Given the description of an element on the screen output the (x, y) to click on. 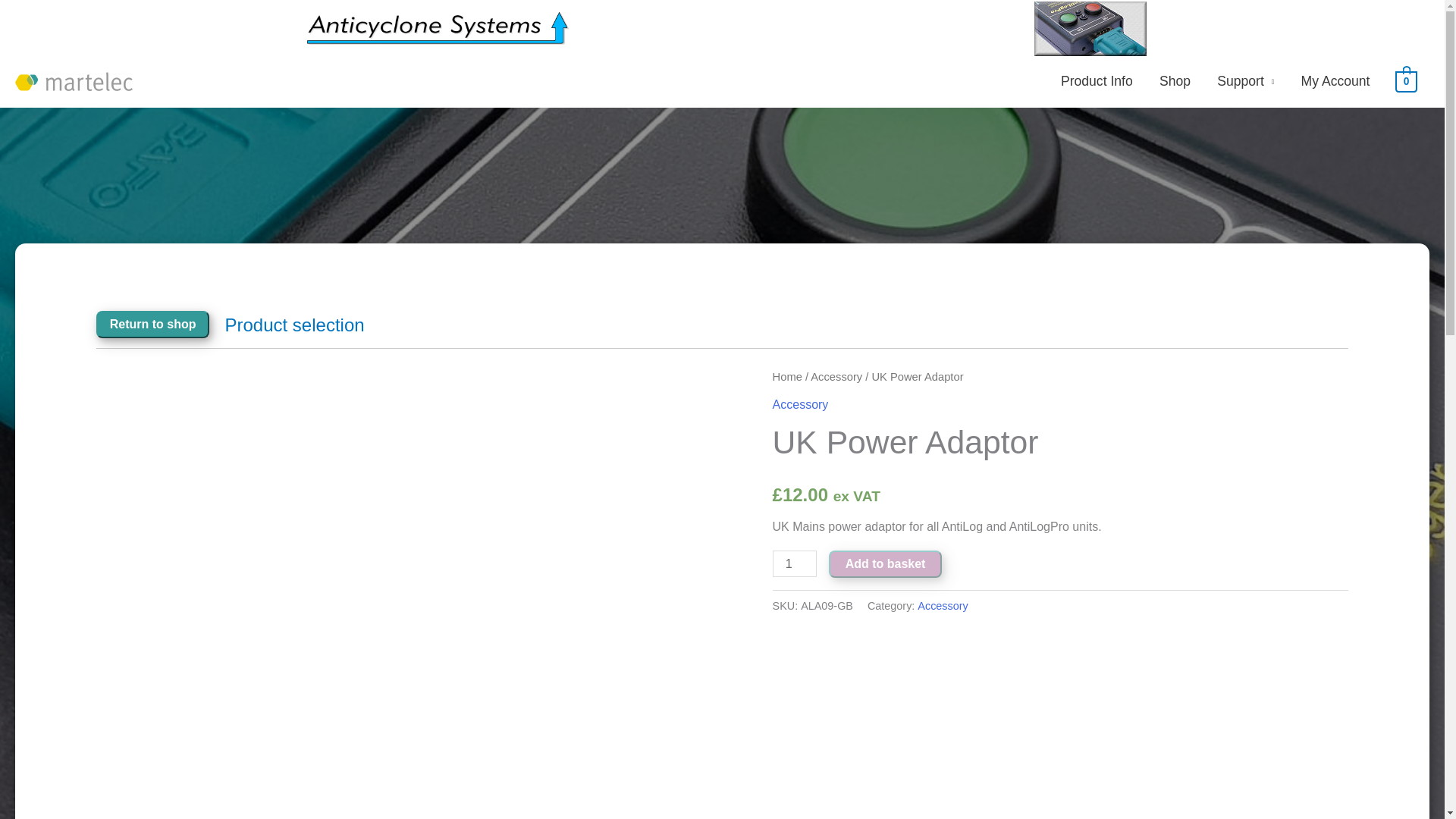
Shop (1174, 80)
0 (1405, 80)
My Account (1335, 80)
Product Info (1095, 80)
Return to shop (152, 324)
Home (787, 377)
Accessory (800, 404)
Accessory (942, 605)
